Given the description of an element on the screen output the (x, y) to click on. 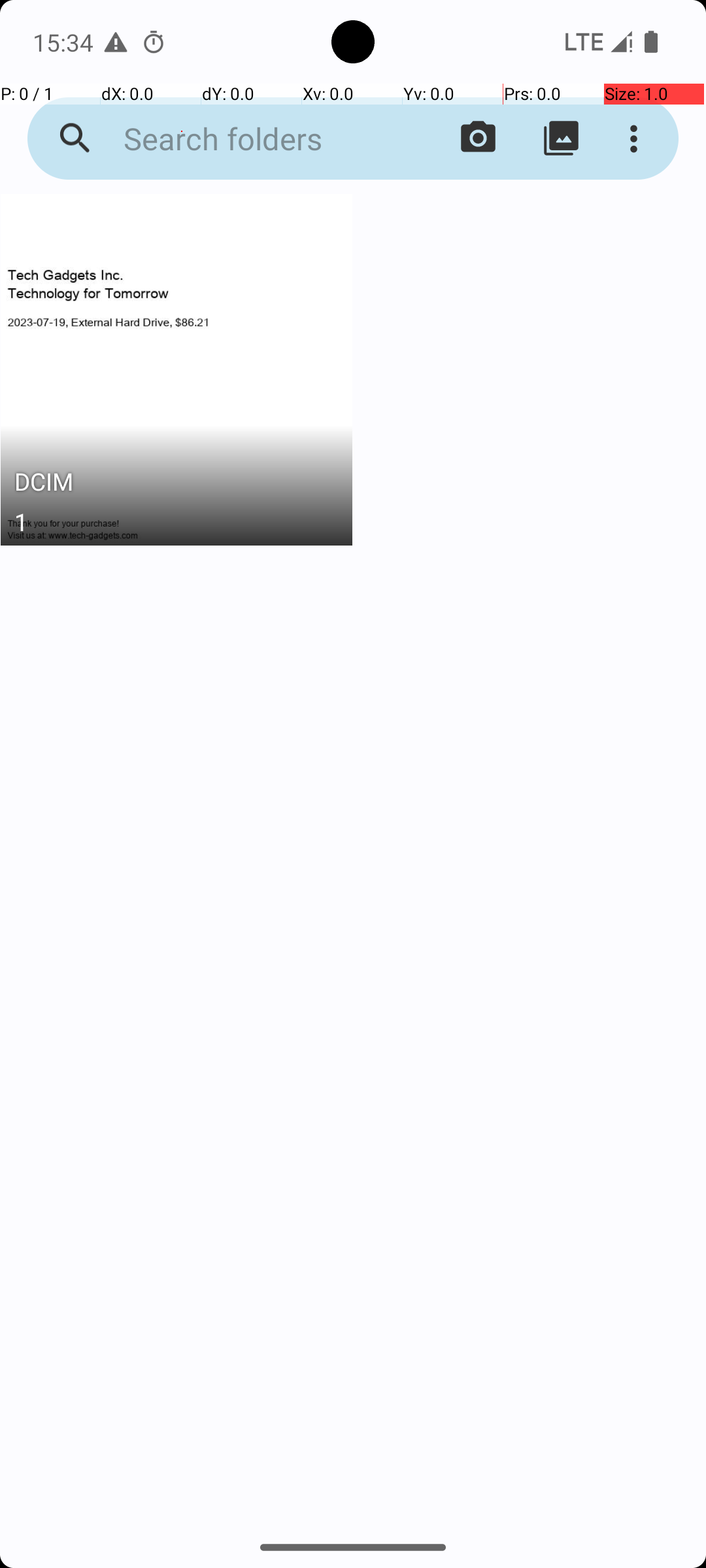
Open camera Element type: android.widget.Button (477, 138)
Show all folders content Element type: android.widget.Button (560, 138)
DCIM Element type: android.widget.TextView (176, 484)
